Given the description of an element on the screen output the (x, y) to click on. 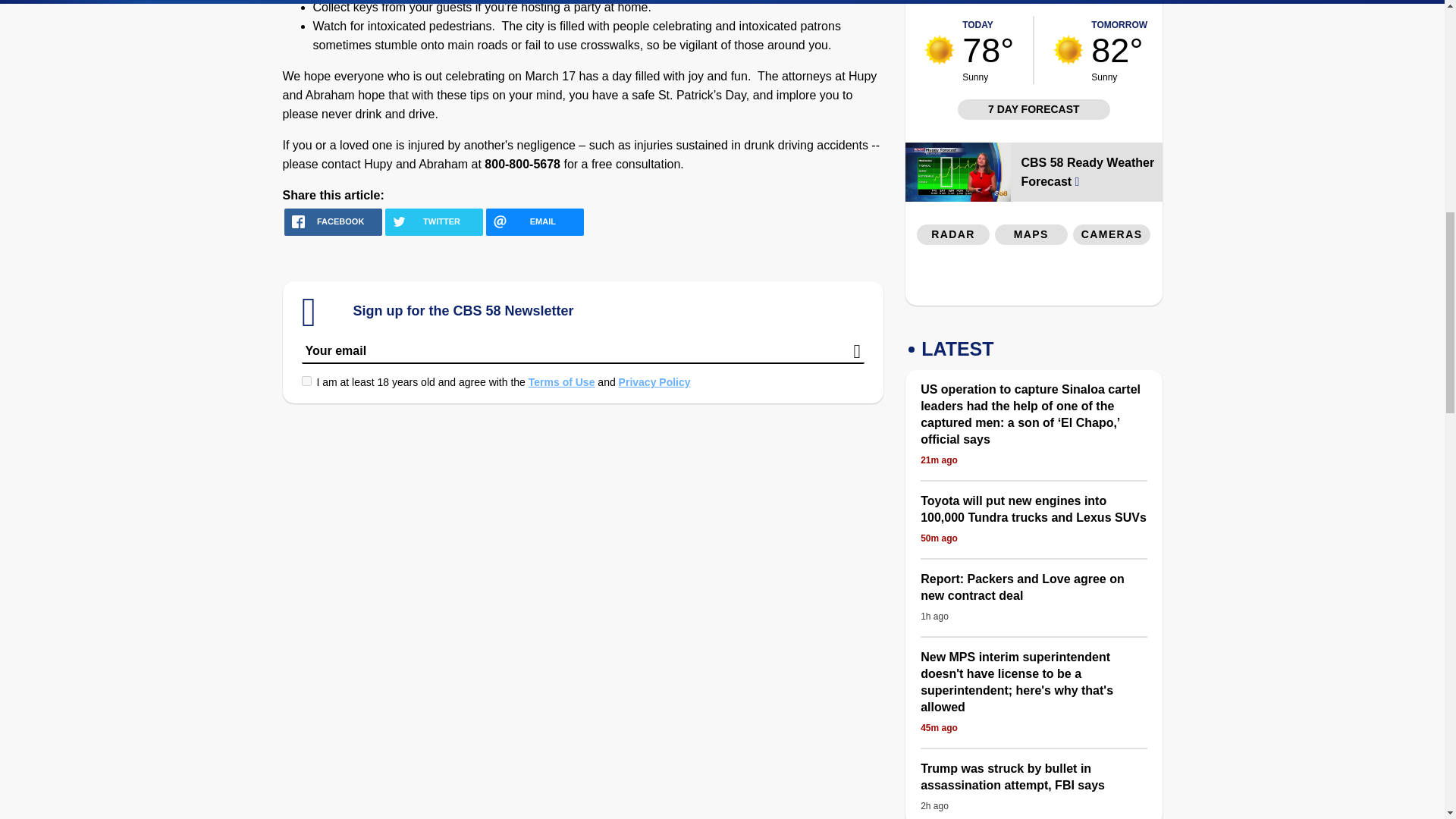
3rd party ad content (1112, 4)
3rd party ad content (1034, 279)
weather (1067, 50)
on (306, 380)
weather (939, 50)
